Given the description of an element on the screen output the (x, y) to click on. 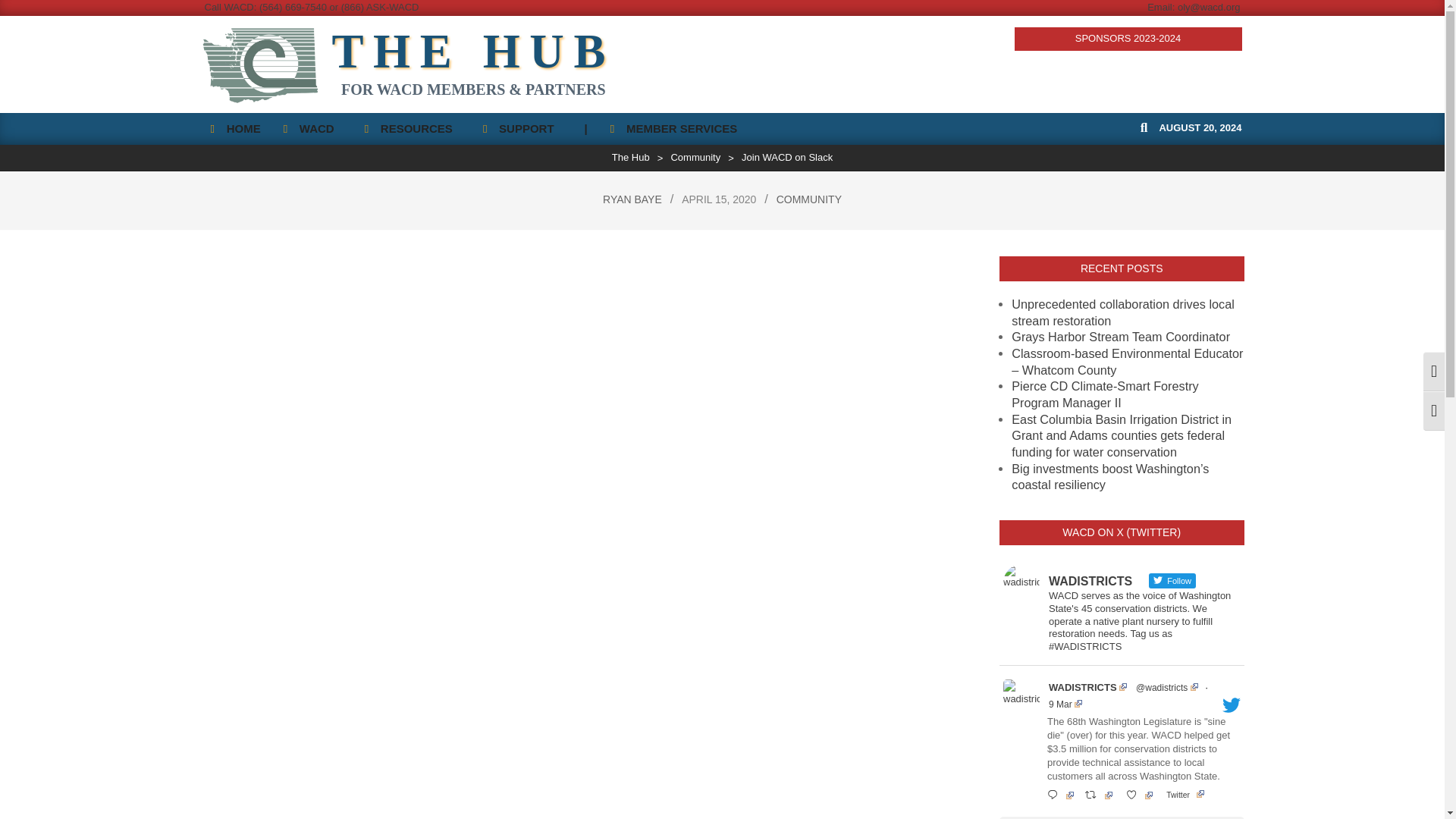
WACD (312, 128)
RESOURCES (412, 128)
HOME (234, 128)
